Given the description of an element on the screen output the (x, y) to click on. 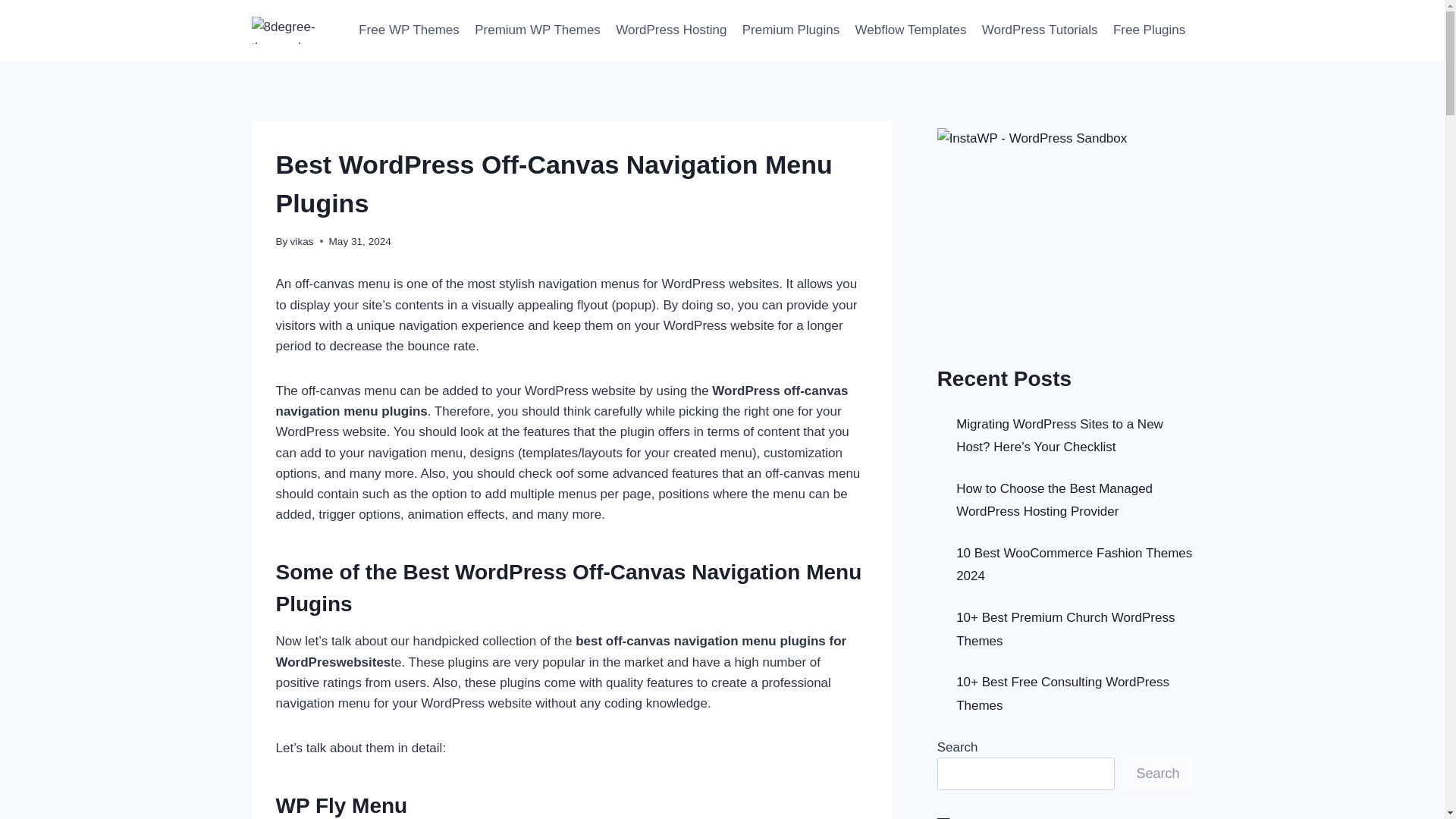
WP Fly Menu (341, 805)
Free Plugins (1149, 30)
Free WP Themes (408, 30)
WordPress Hosting (671, 30)
Premium Plugins (791, 30)
Webflow Templates (910, 30)
vikas (301, 241)
WordPress Tutorials (1039, 30)
Premium WP Themes (537, 30)
